Given the description of an element on the screen output the (x, y) to click on. 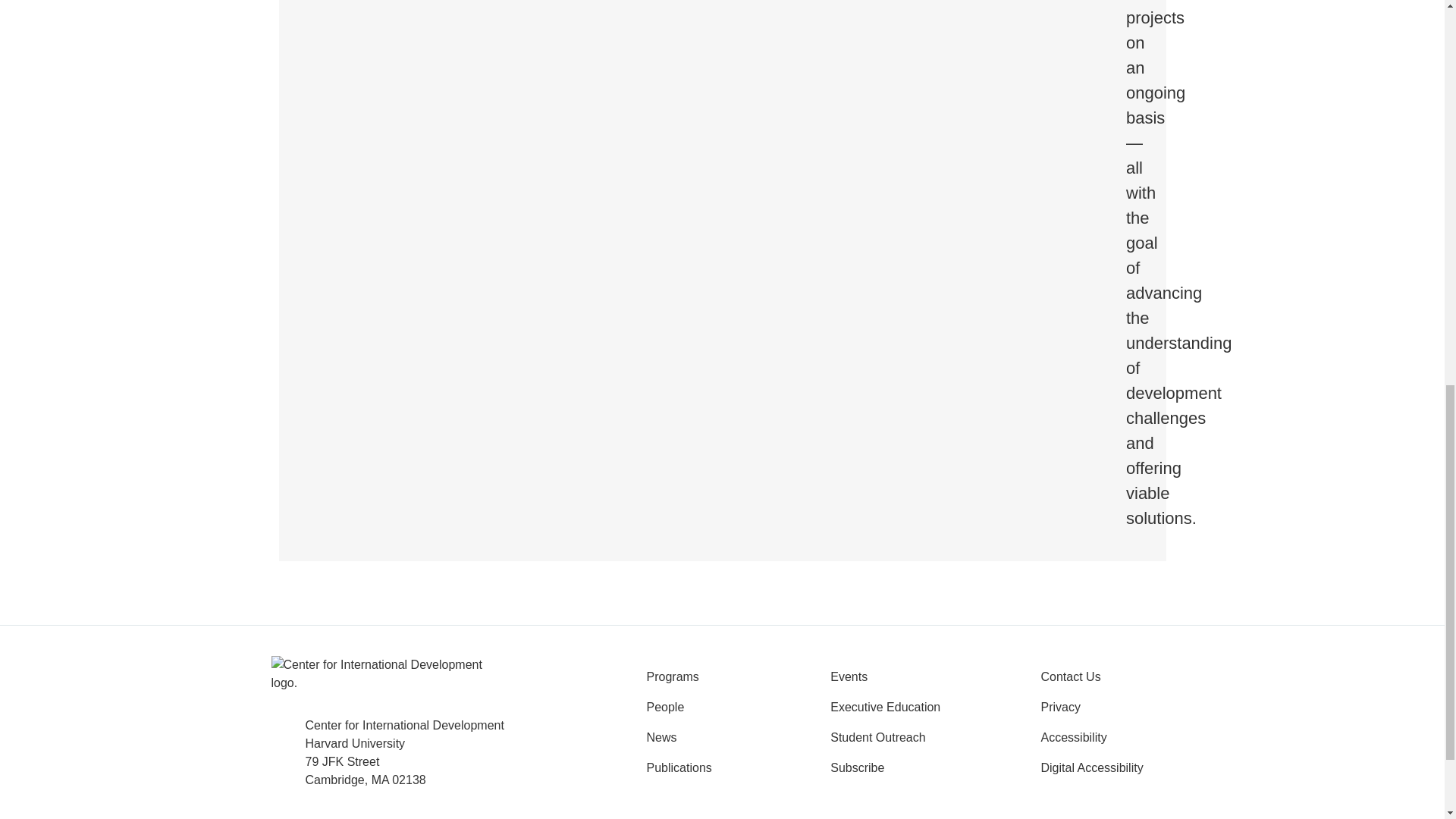
Center for International Development logo. (378, 682)
